Given the description of an element on the screen output the (x, y) to click on. 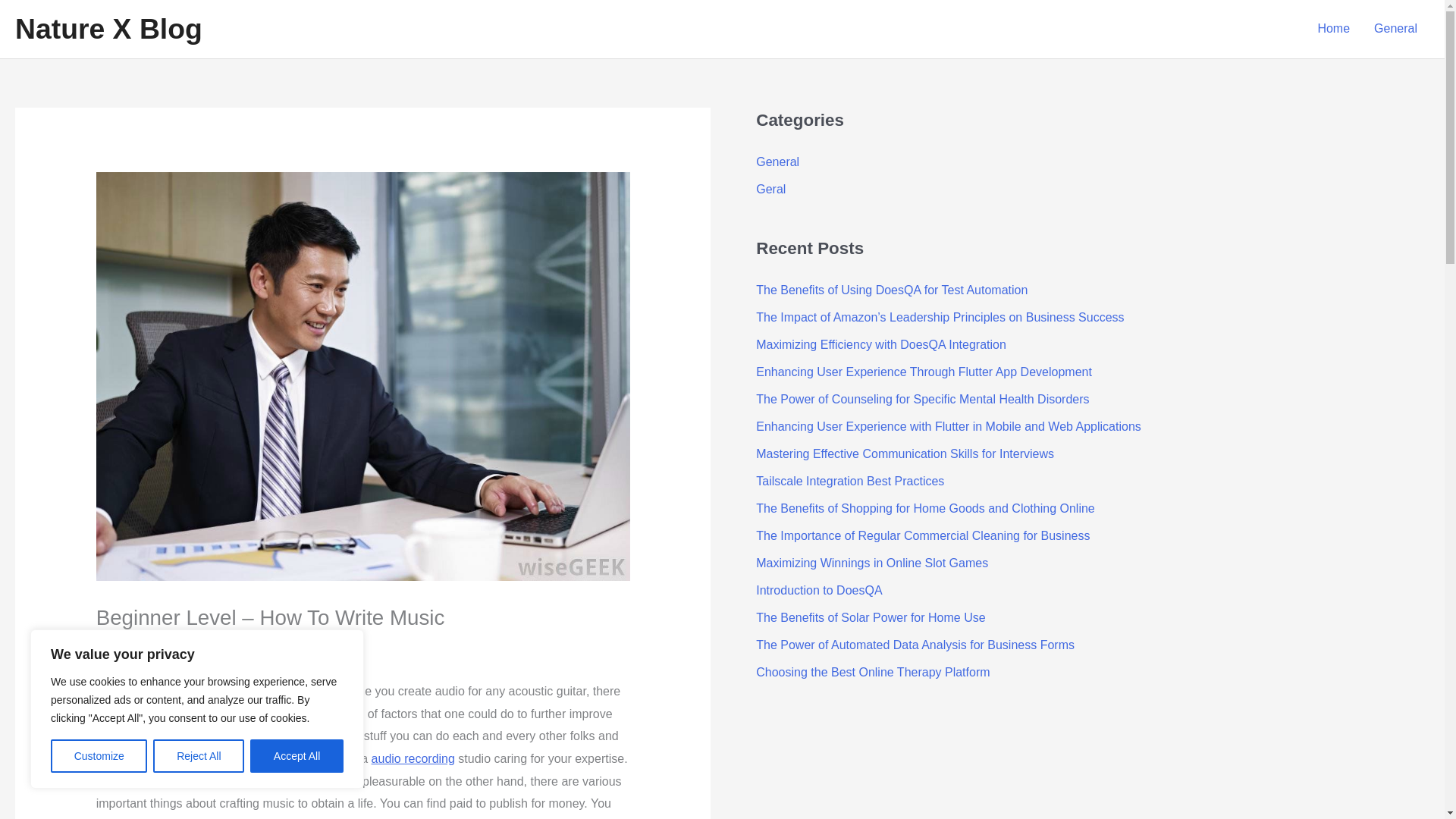
The Benefits of Using DoesQA for Test Automation (891, 289)
General (777, 161)
audio recording (412, 758)
Maximizing Efficiency with DoesQA Integration (880, 344)
General (125, 646)
Enhancing User Experience Through Flutter App Development (923, 371)
Nature X Blog (108, 29)
Reject All (198, 756)
Customize (98, 756)
General (1395, 28)
Geral (770, 188)
Home (1332, 28)
Accept All (296, 756)
